Given the description of an element on the screen output the (x, y) to click on. 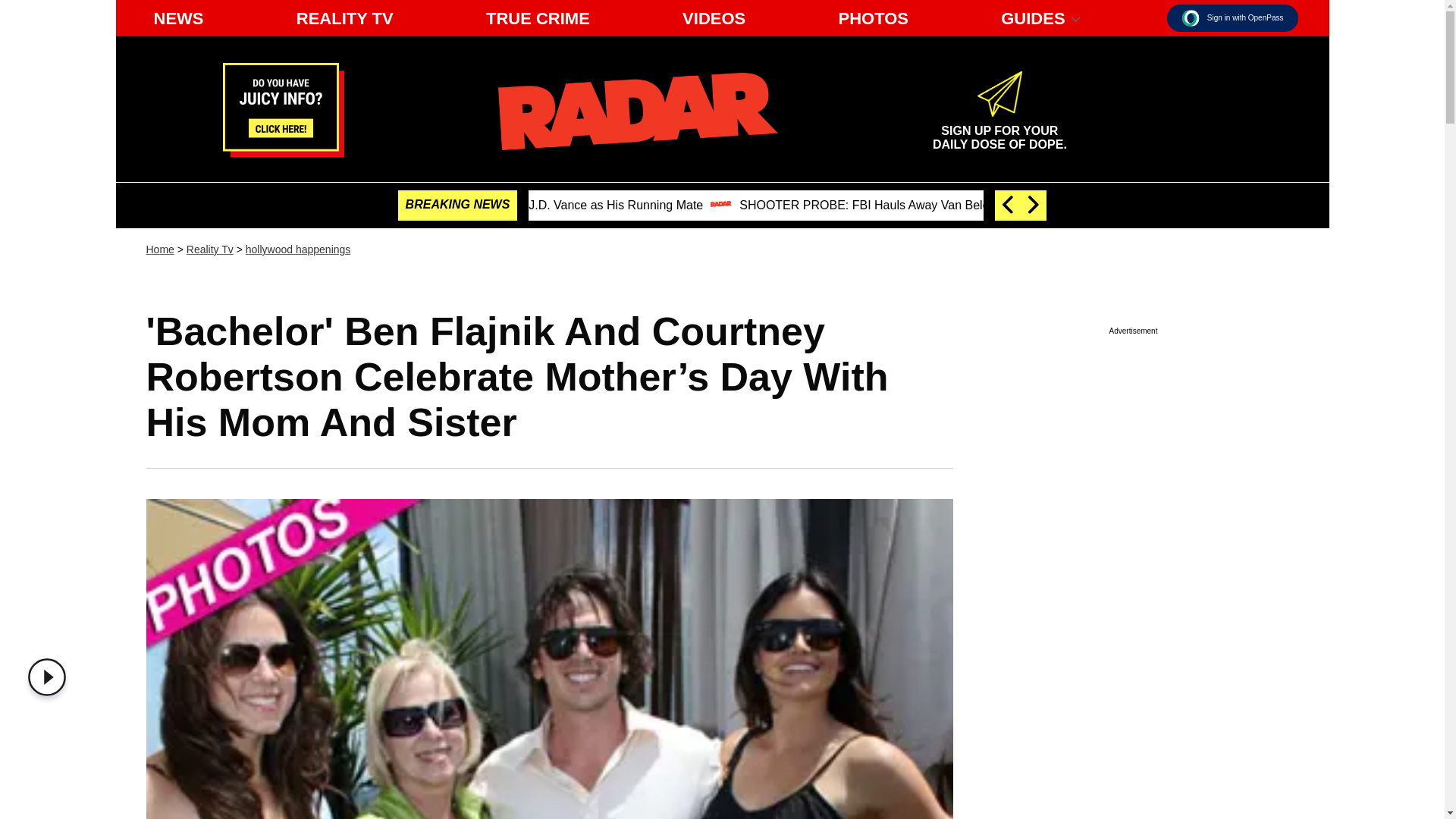
NEWS (178, 18)
hollywood happenings (298, 249)
TRUE CRIME (537, 18)
Sign in with OpenPass (1232, 17)
REALITY TV (344, 18)
OpenPass Logo (1190, 17)
Sign up for your daily dose of dope. (999, 130)
PHOTOS (872, 18)
VIDEOS (713, 18)
Radar Online (999, 130)
Reality Tv (637, 110)
Email us your tip (209, 249)
Trinity Audio Player (282, 152)
